Given the description of an element on the screen output the (x, y) to click on. 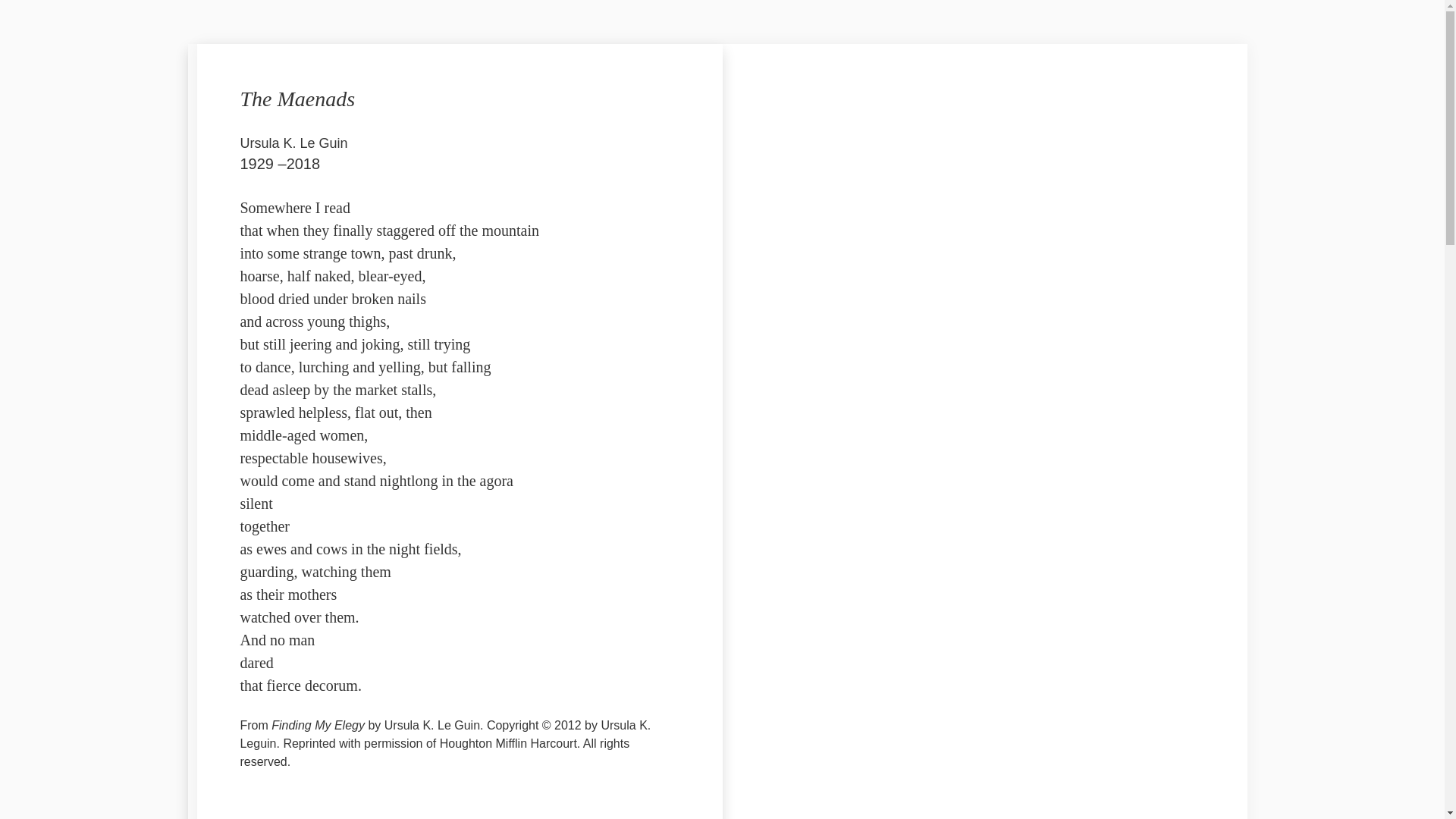
The Maenads (297, 98)
Ursula K. Le Guin (293, 142)
